Given the description of an element on the screen output the (x, y) to click on. 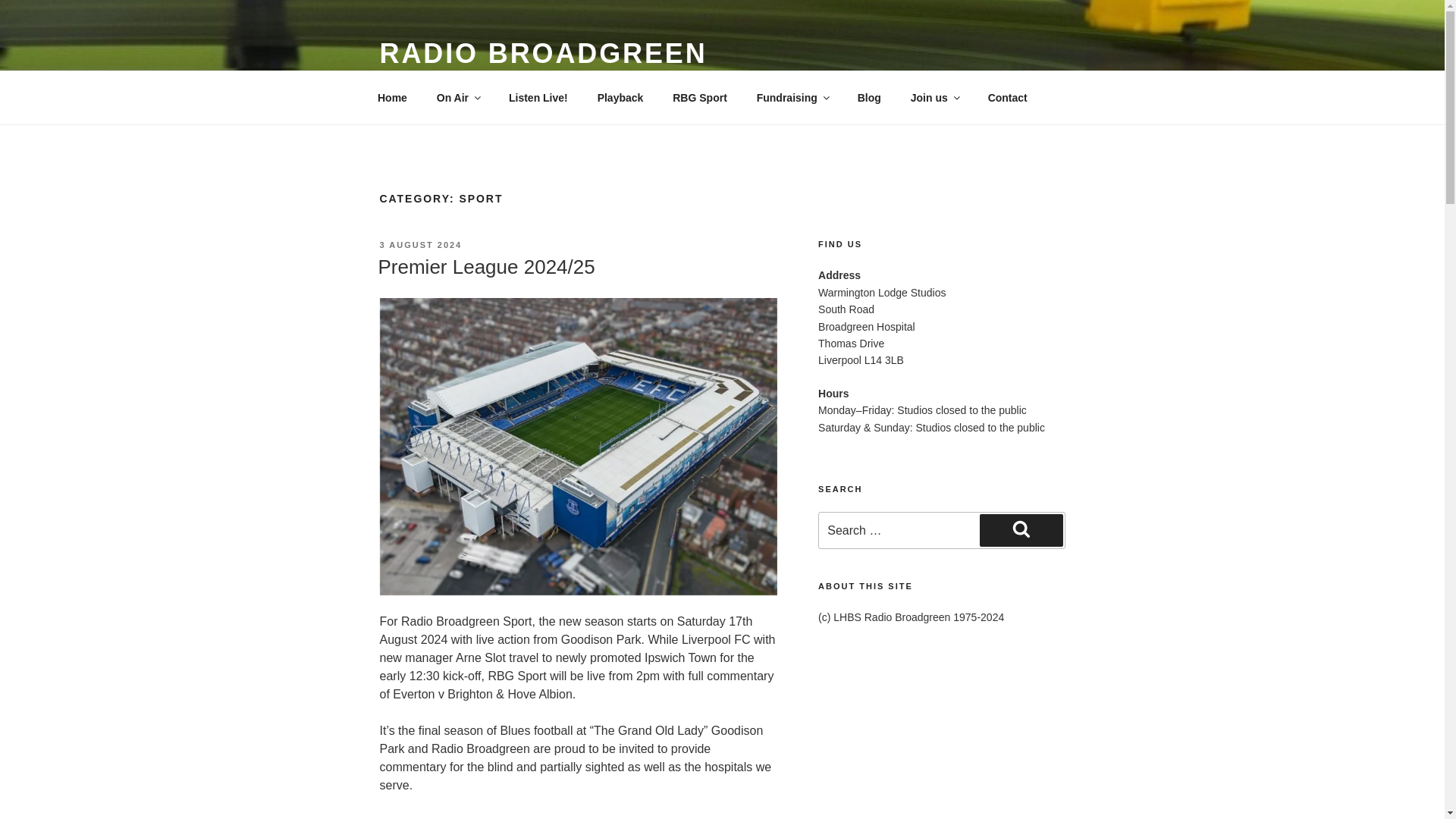
Listen Live! (537, 97)
On Air (457, 97)
3 AUGUST 2024 (419, 244)
Home (392, 97)
Playback (619, 97)
Join us (933, 97)
Fundraising (791, 97)
Blog (868, 97)
RBG Sport (700, 97)
RADIO BROADGREEN (542, 52)
